Given the description of an element on the screen output the (x, y) to click on. 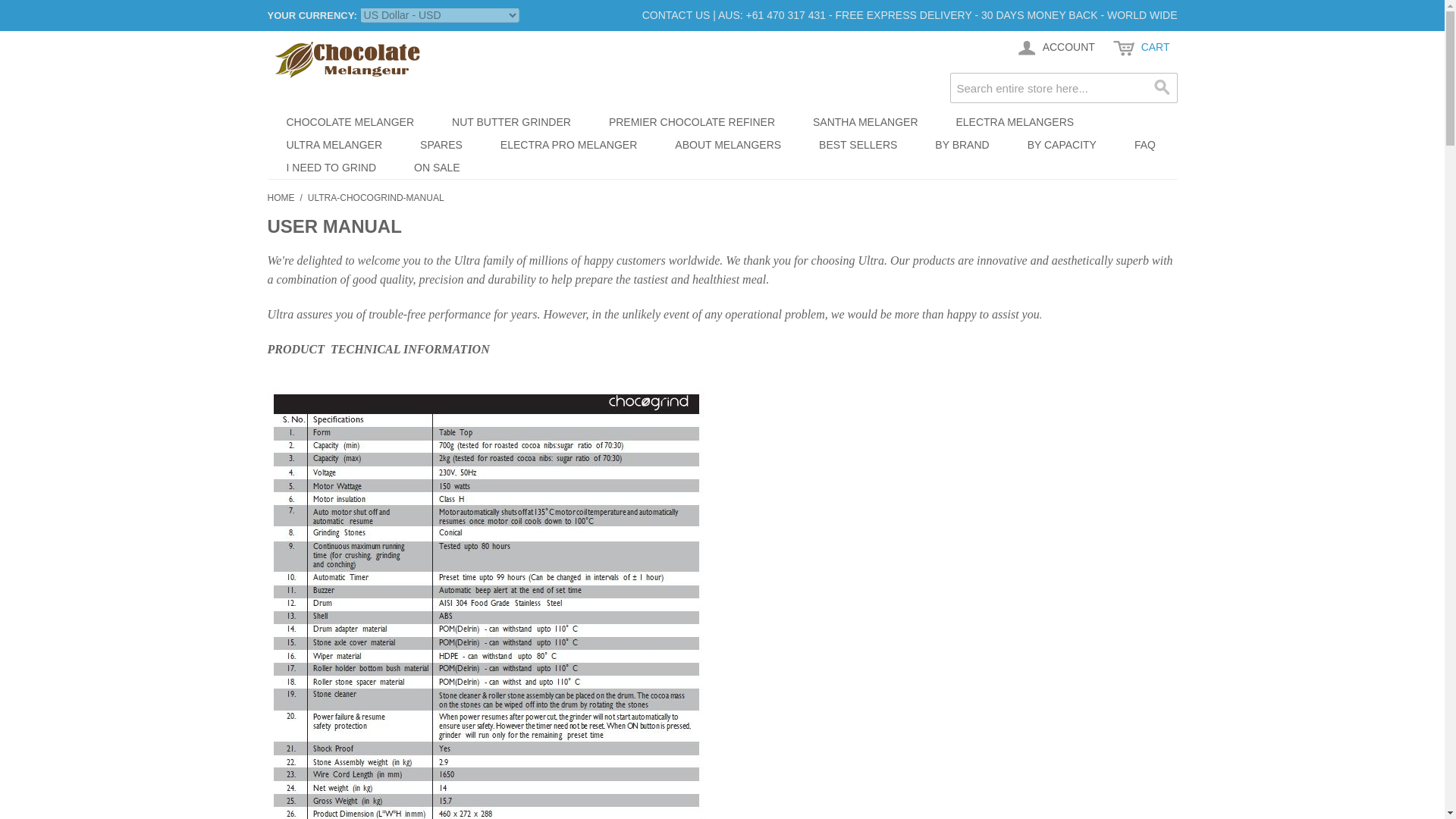
SANTHA MELANGER (864, 121)
ELECTRA MELANGERS (1015, 121)
ACCOUNT (1054, 47)
SPARES (441, 144)
Your Currency (439, 14)
ABOUT MELANGERS (727, 144)
NUT BUTTER GRINDER (510, 121)
Go to Home Page (280, 197)
Search (1161, 87)
PREMIER CHOCOLATE REFINER (691, 121)
ULTRA MELANGER (333, 144)
CHOCOLATE MELANGER (349, 121)
CART (1141, 47)
ELECTRA PRO MELANGER (568, 144)
CONTACT US (676, 15)
